Given the description of an element on the screen output the (x, y) to click on. 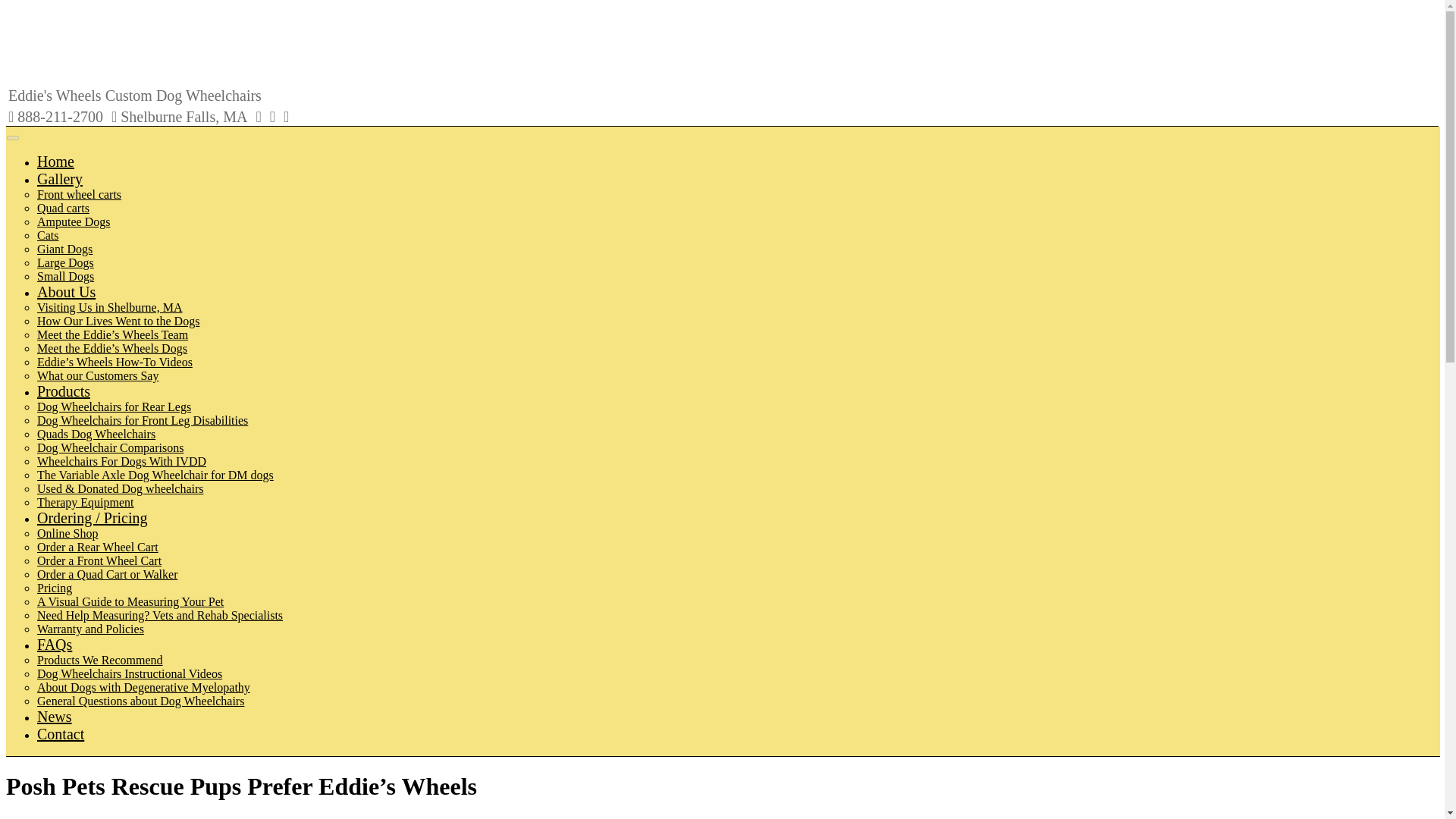
Order a Rear Wheel Cart (97, 546)
Quad carts (62, 207)
Front wheel carts (78, 194)
Cats (47, 235)
Warranty and Policies (90, 628)
Small Dogs (65, 276)
A Visual Guide to Measuring Your Pet (130, 601)
Wheelchairs For Dogs With IVDD (121, 461)
What our Customers Say (97, 375)
Products (63, 391)
Amputee Dogs (73, 221)
Pricing (54, 587)
Giant Dogs (65, 248)
Therapy Equipment (85, 502)
Gallery (59, 178)
